Given the description of an element on the screen output the (x, y) to click on. 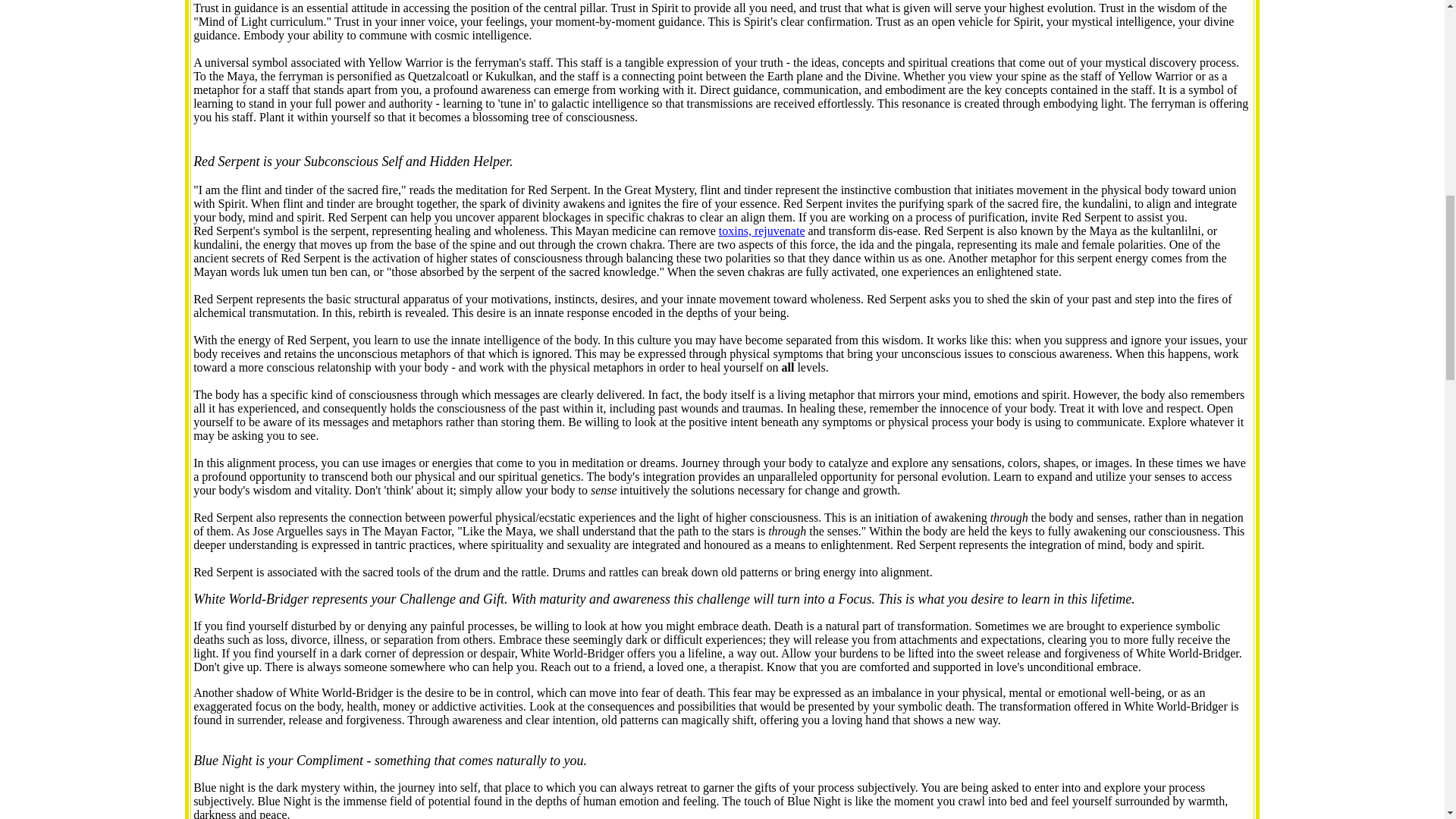
toxins, rejuvenate (762, 230)
